Given the description of an element on the screen output the (x, y) to click on. 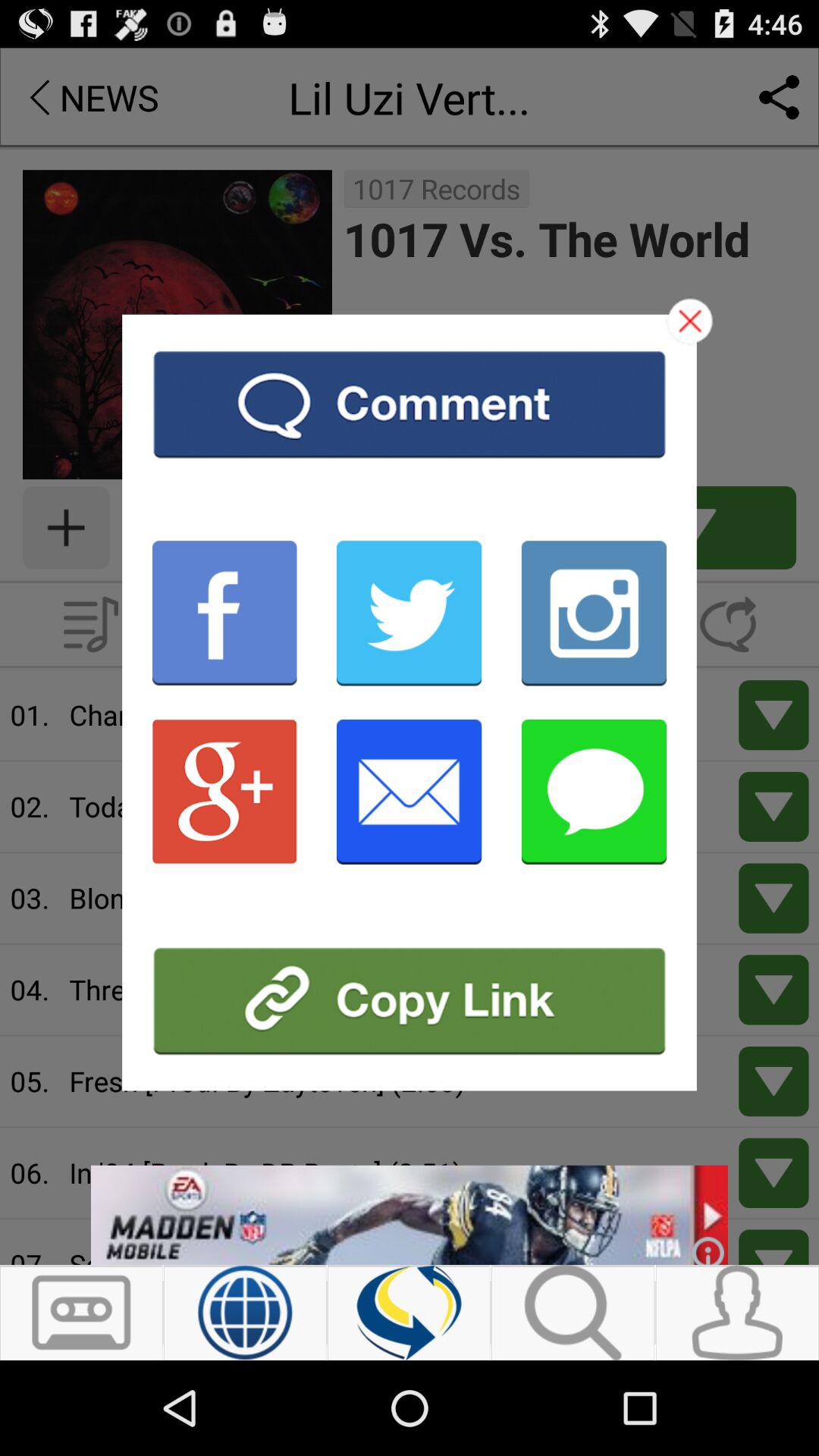
click to comment (409, 403)
